Given the description of an element on the screen output the (x, y) to click on. 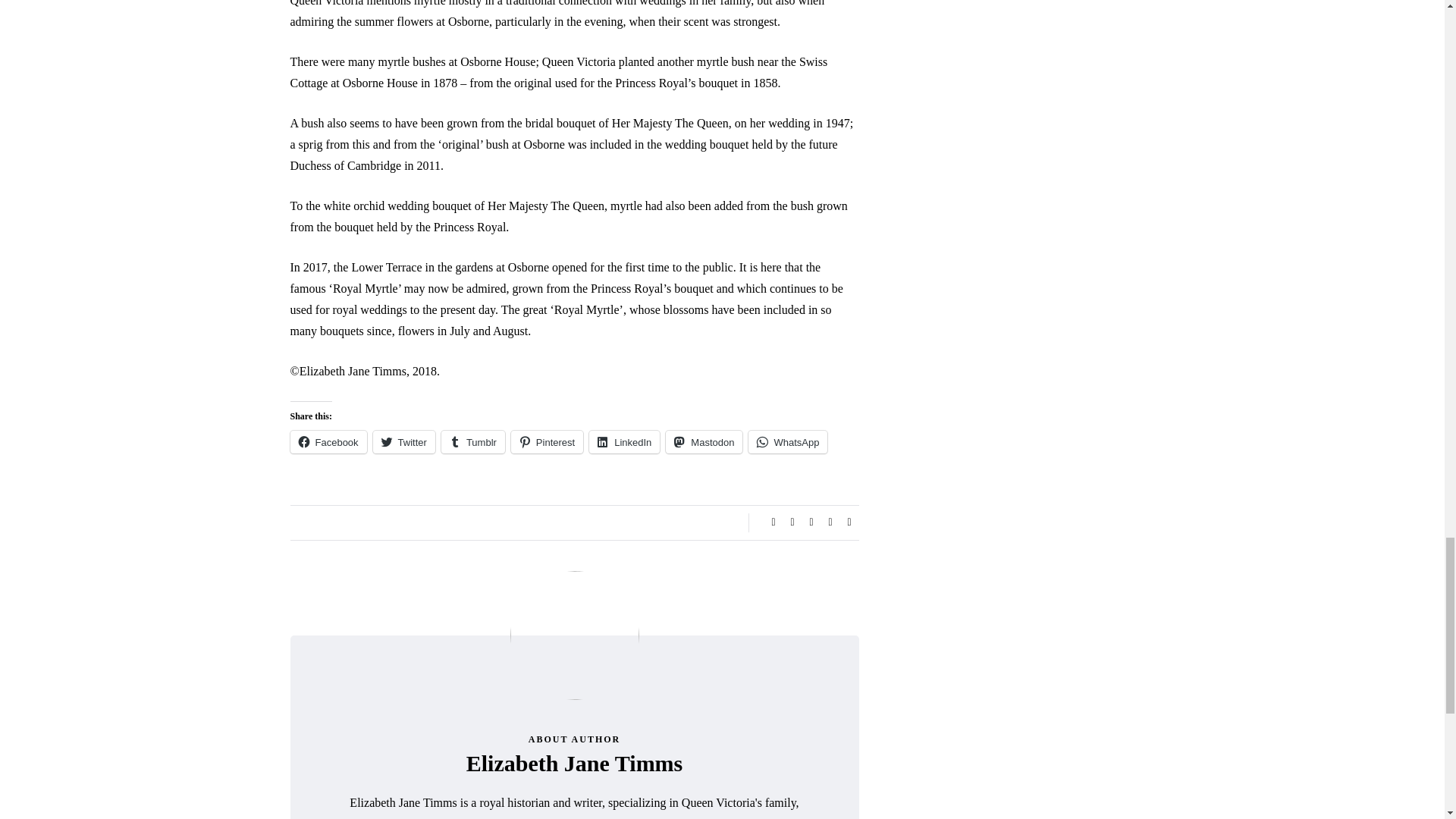
Pinterest (547, 441)
Share with LinkedIn (811, 522)
Click to share on Facebook (327, 441)
Click to share on Mastodon (703, 441)
Pin this (830, 522)
Facebook (327, 441)
Click to share on WhatsApp (787, 441)
WhatsApp (787, 441)
Tumblr (473, 441)
Tweet this (792, 522)
LinkedIn (624, 441)
Click to share on LinkedIn (624, 441)
Mastodon (703, 441)
Click to share on Pinterest (547, 441)
Click to share on Tumblr (473, 441)
